Given the description of an element on the screen output the (x, y) to click on. 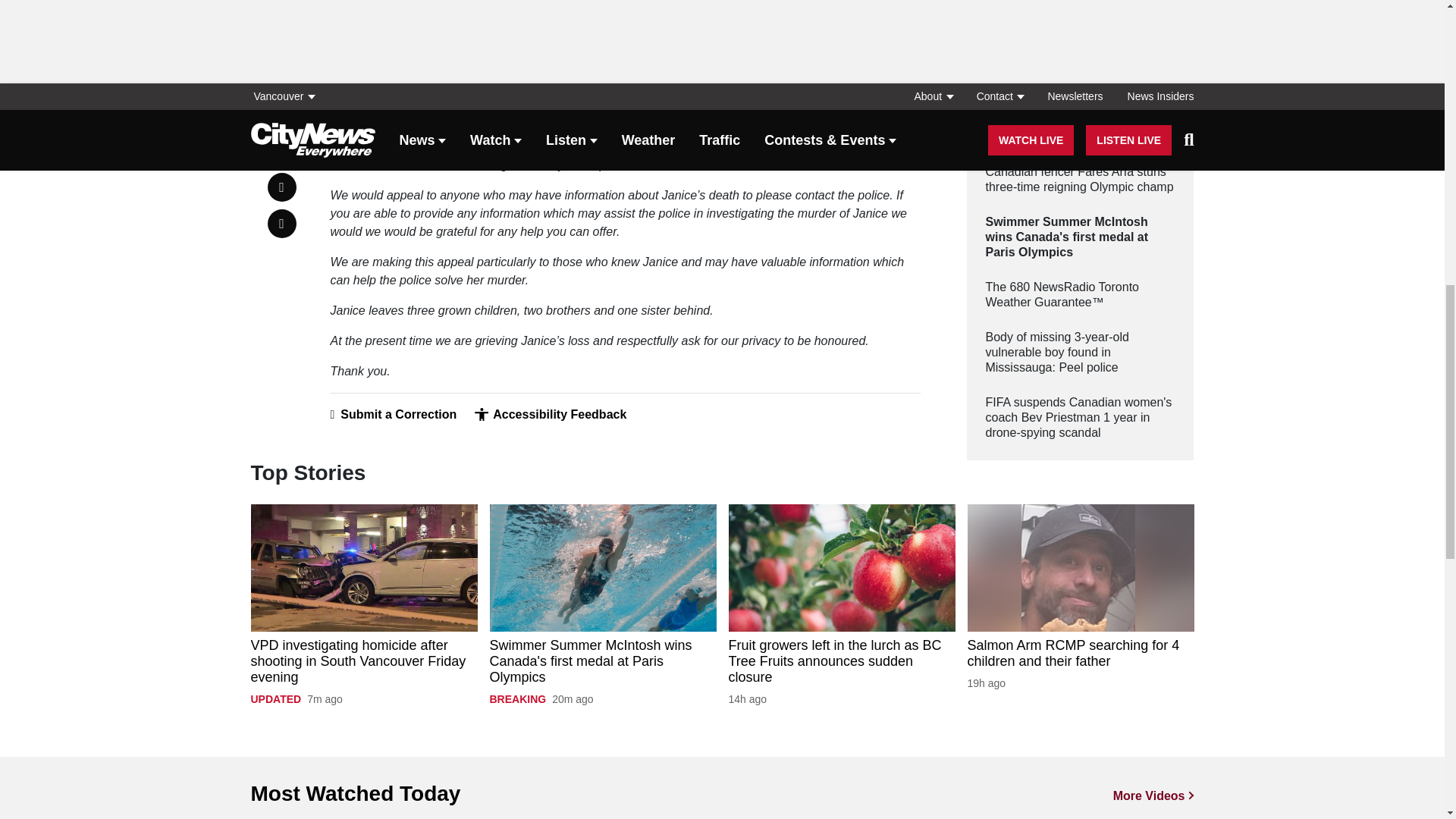
Accessibility Feedback (550, 413)
Submit a Correction (393, 413)
